Given the description of an element on the screen output the (x, y) to click on. 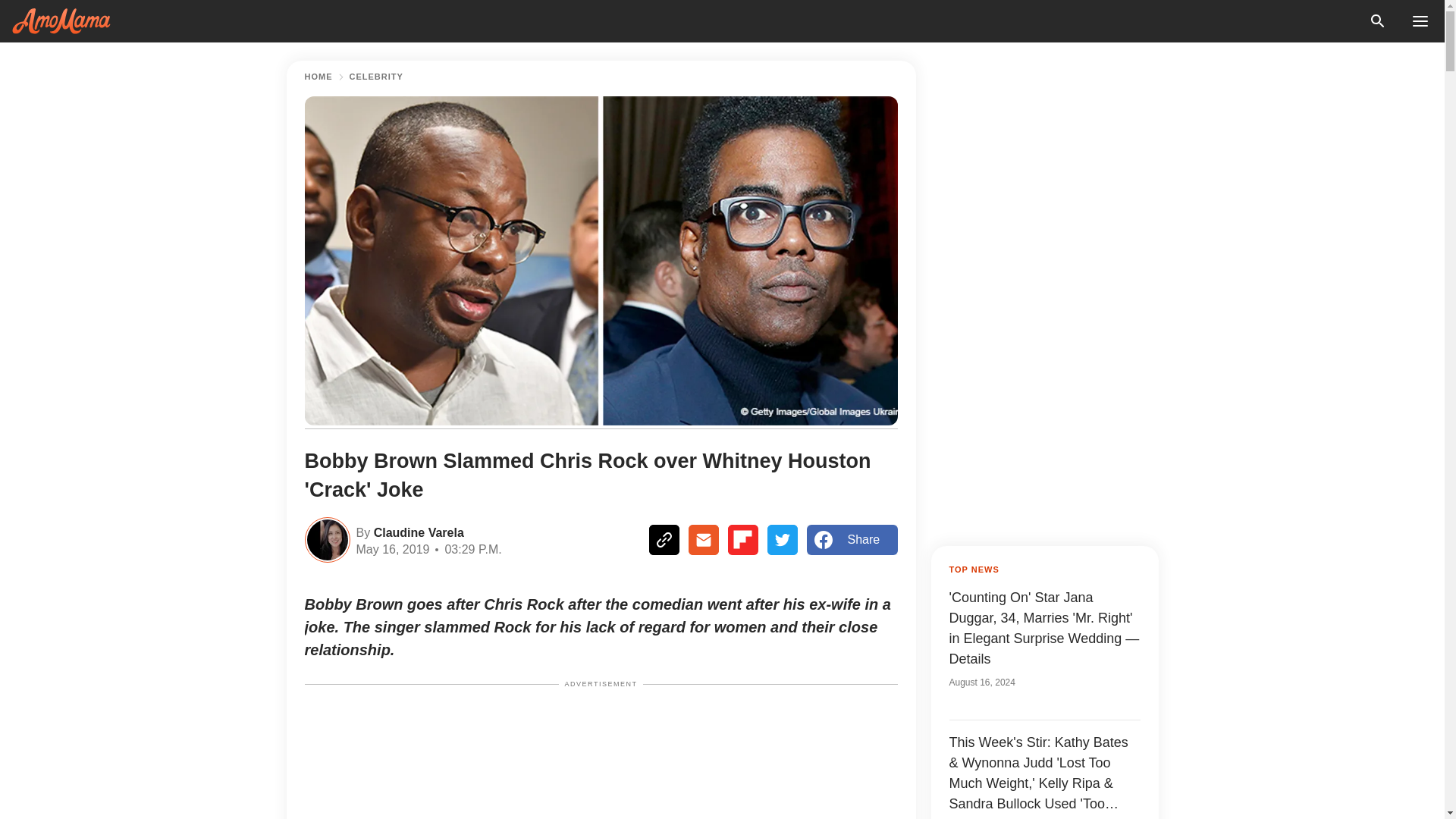
Claudine Varela (416, 531)
HOME (318, 76)
CELEBRITY (376, 76)
